Given the description of an element on the screen output the (x, y) to click on. 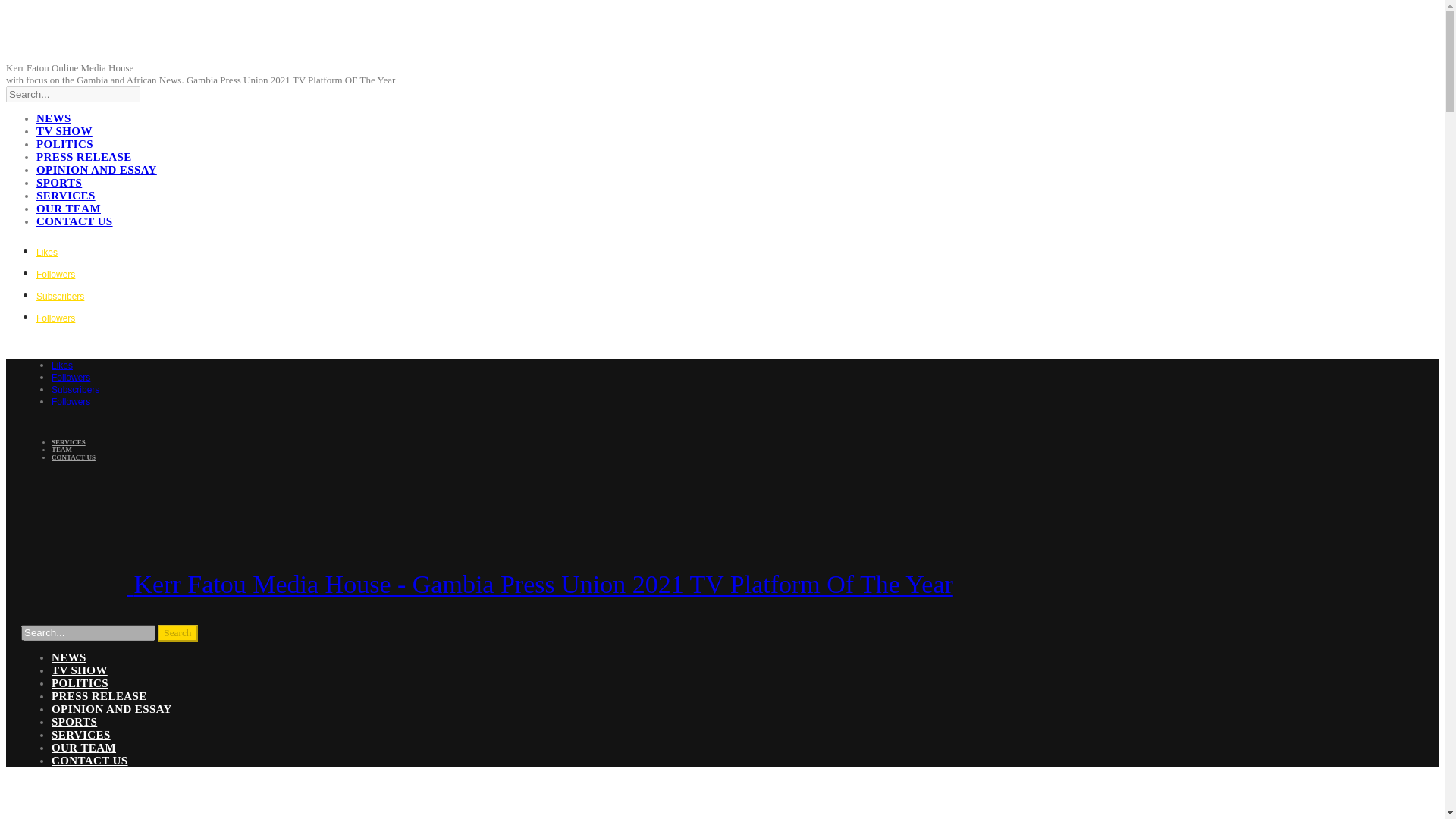
POLITICS (64, 143)
Followers (55, 317)
POLITICS (78, 683)
Search for: (88, 632)
Search (176, 632)
CONTACT US (74, 221)
OPINION AND ESSAY (110, 708)
Likes (47, 251)
SERVICES (67, 441)
